Given the description of an element on the screen output the (x, y) to click on. 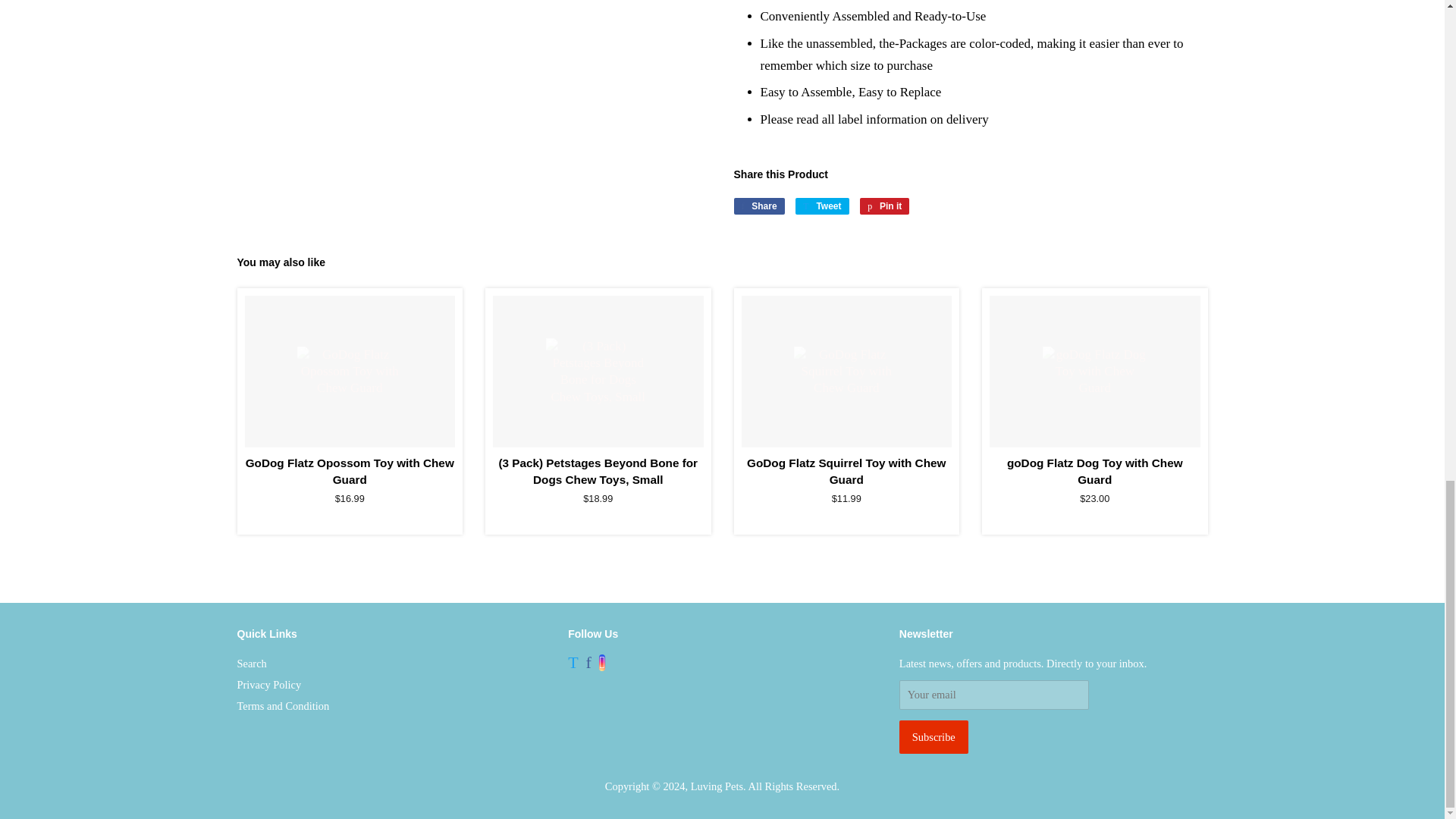
Pin on Pinterest (884, 206)
Tweet on Twitter (821, 206)
Share on Facebook (758, 206)
Subscribe (933, 736)
